Given the description of an element on the screen output the (x, y) to click on. 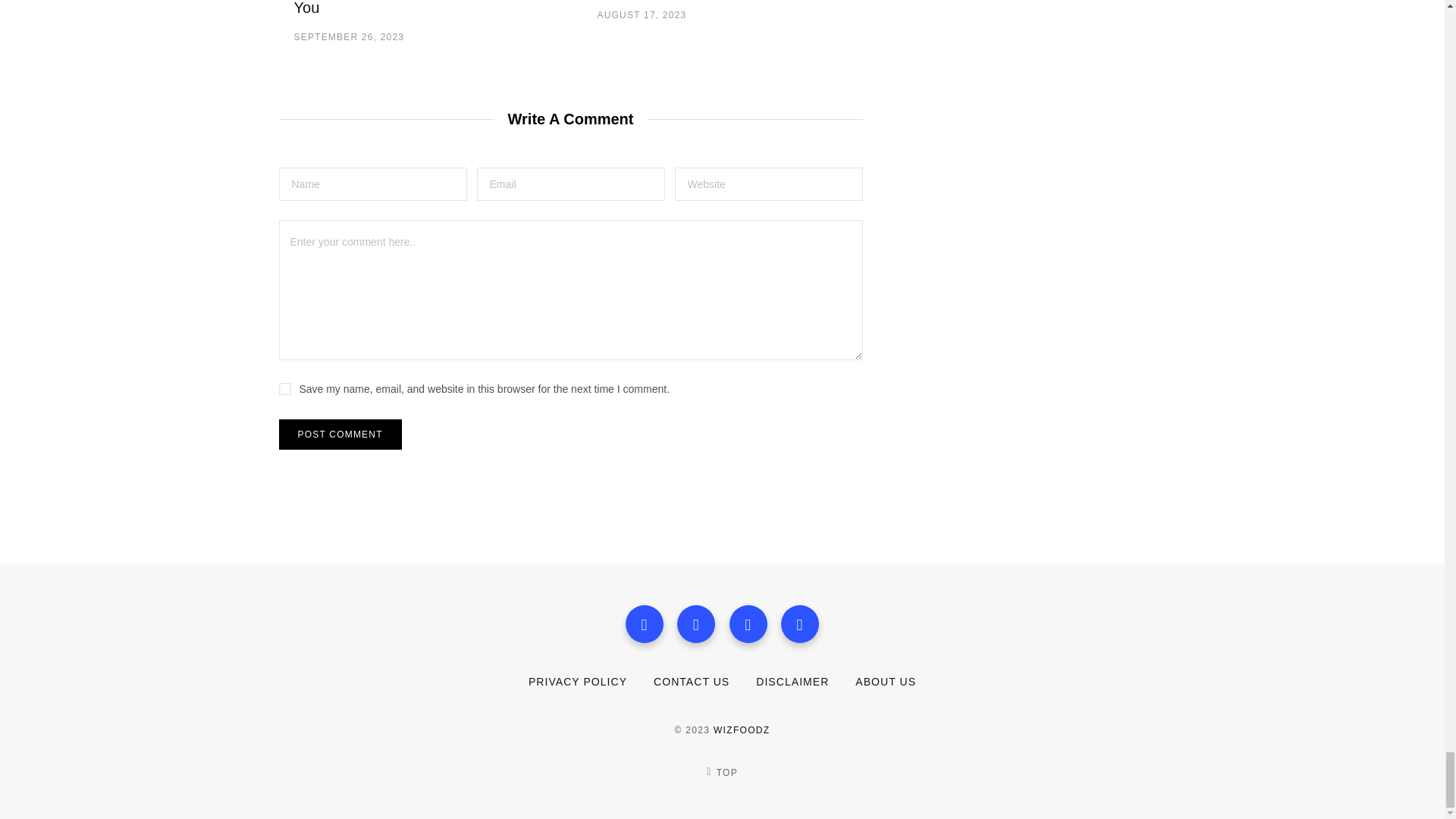
Post Comment (340, 434)
yes (285, 388)
